Given the description of an element on the screen output the (x, y) to click on. 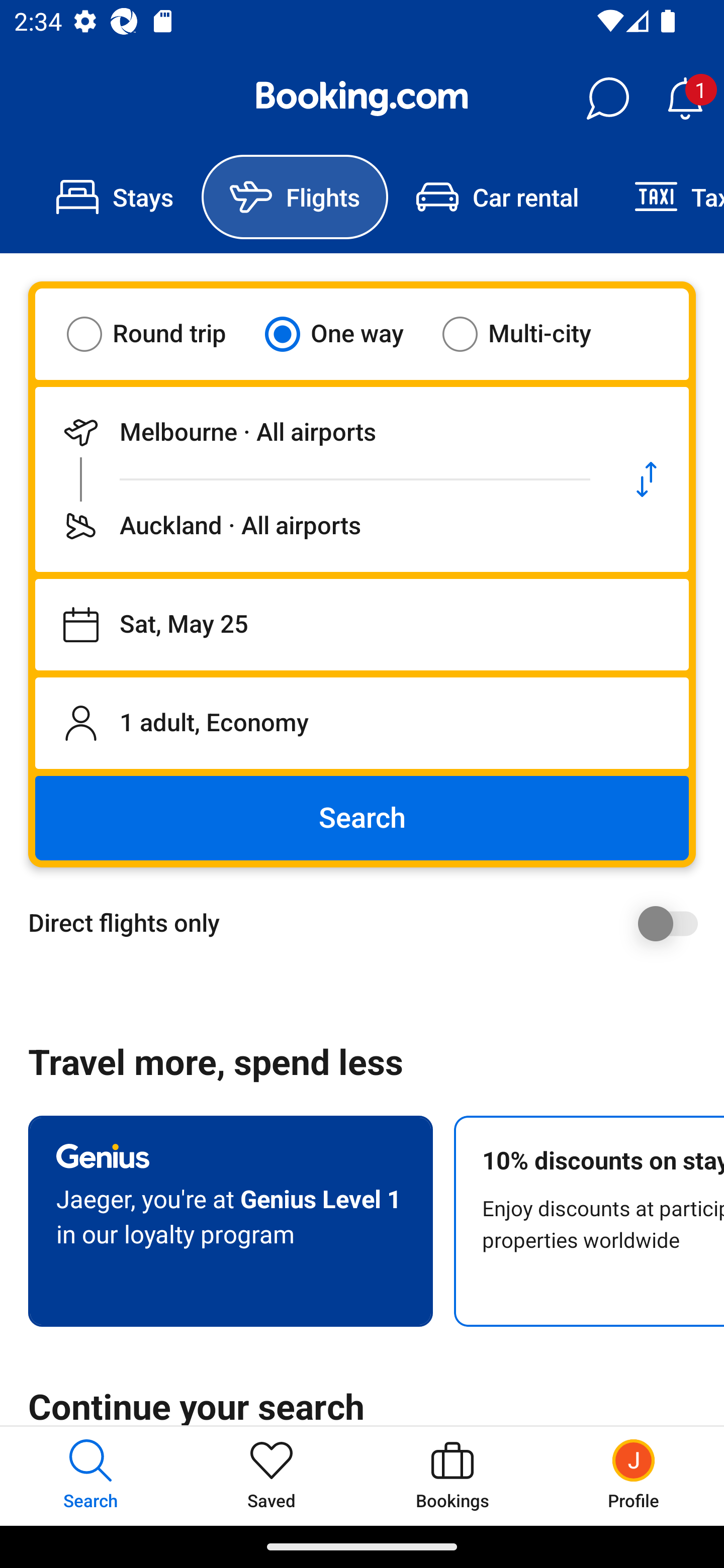
Messages (607, 98)
Notifications (685, 98)
Stays (114, 197)
Flights (294, 197)
Car rental (497, 197)
Taxi (665, 197)
Round trip (158, 333)
Multi-city (528, 333)
Departing from Melbourne · All airports (319, 432)
Swap departure location and destination (646, 479)
Flying to Auckland · All airports (319, 525)
Departing on Sat, May 25 (361, 624)
1 adult, Economy (361, 722)
Search (361, 818)
Direct flights only (369, 923)
Saved (271, 1475)
Bookings (452, 1475)
Profile (633, 1475)
